Given the description of an element on the screen output the (x, y) to click on. 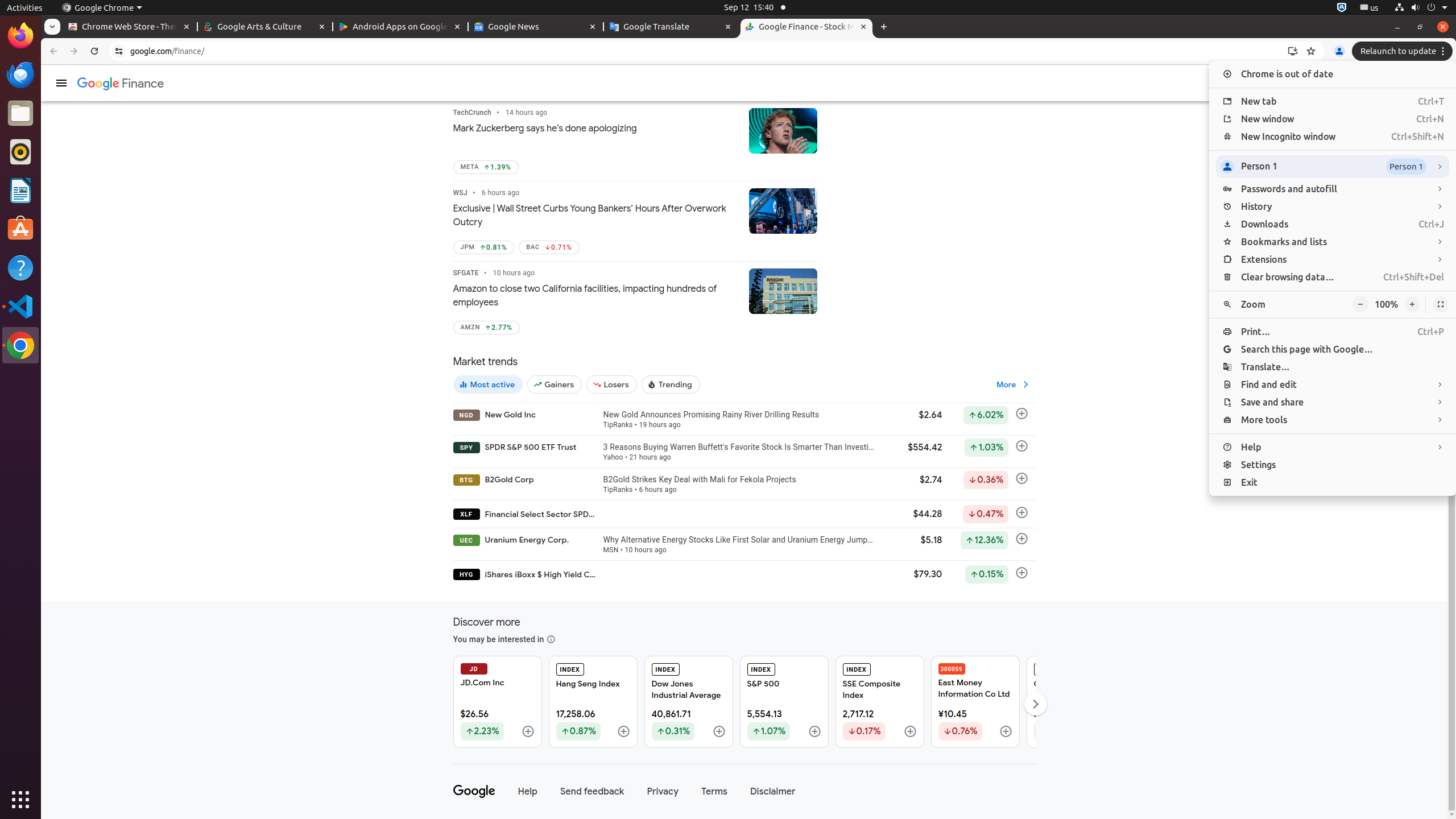
New tab Ctrl+T Element type: menu-item (1332, 101)
Make Text Larger Element type: menu-item (1412, 304)
New Incognito window Ctrl+Shift+N Element type: menu-item (1332, 136)
